Given the description of an element on the screen output the (x, y) to click on. 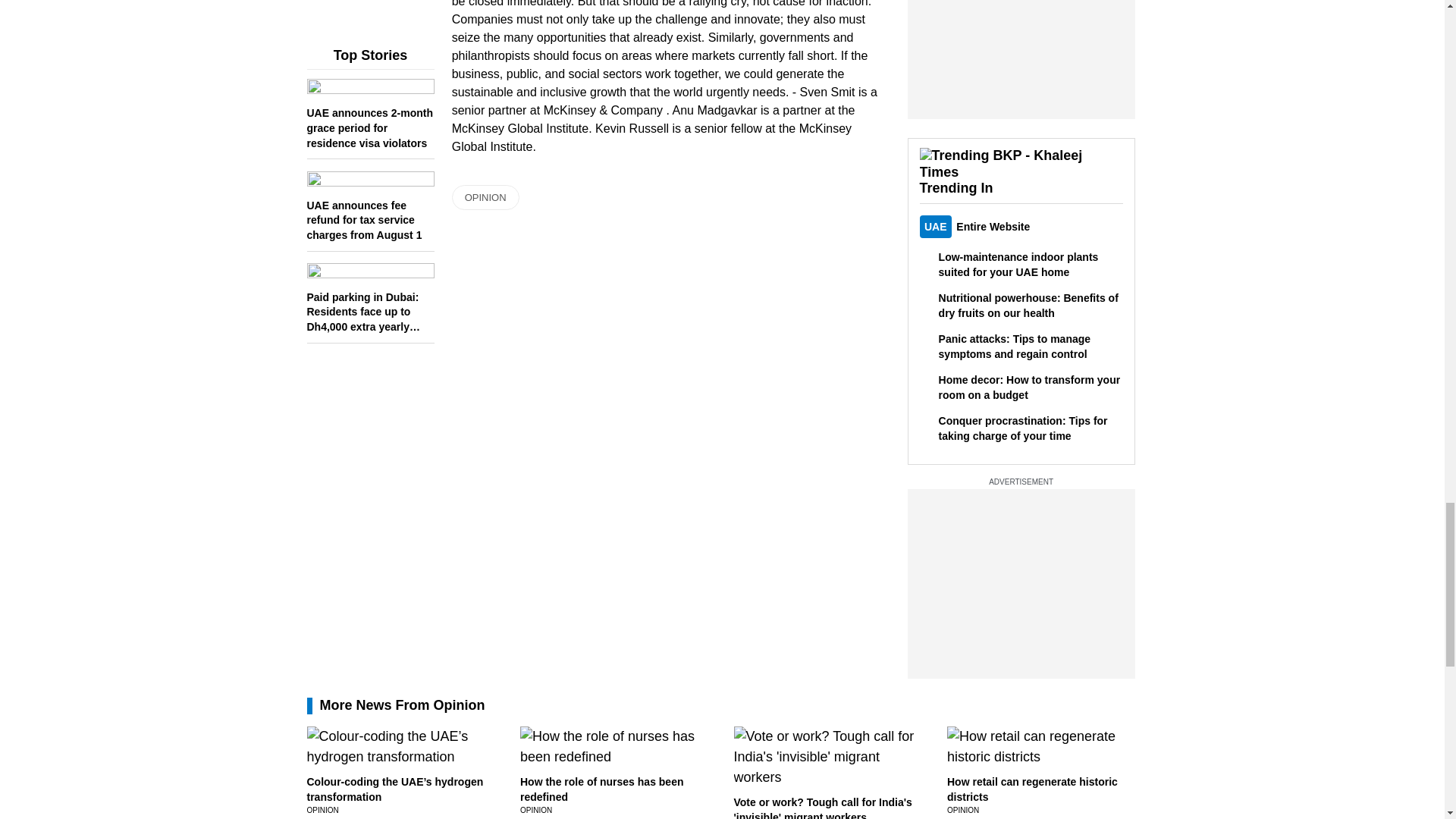
How the role of nurses has been redefined (601, 789)
How retail can regenerate historic districts (1032, 789)
